Given the description of an element on the screen output the (x, y) to click on. 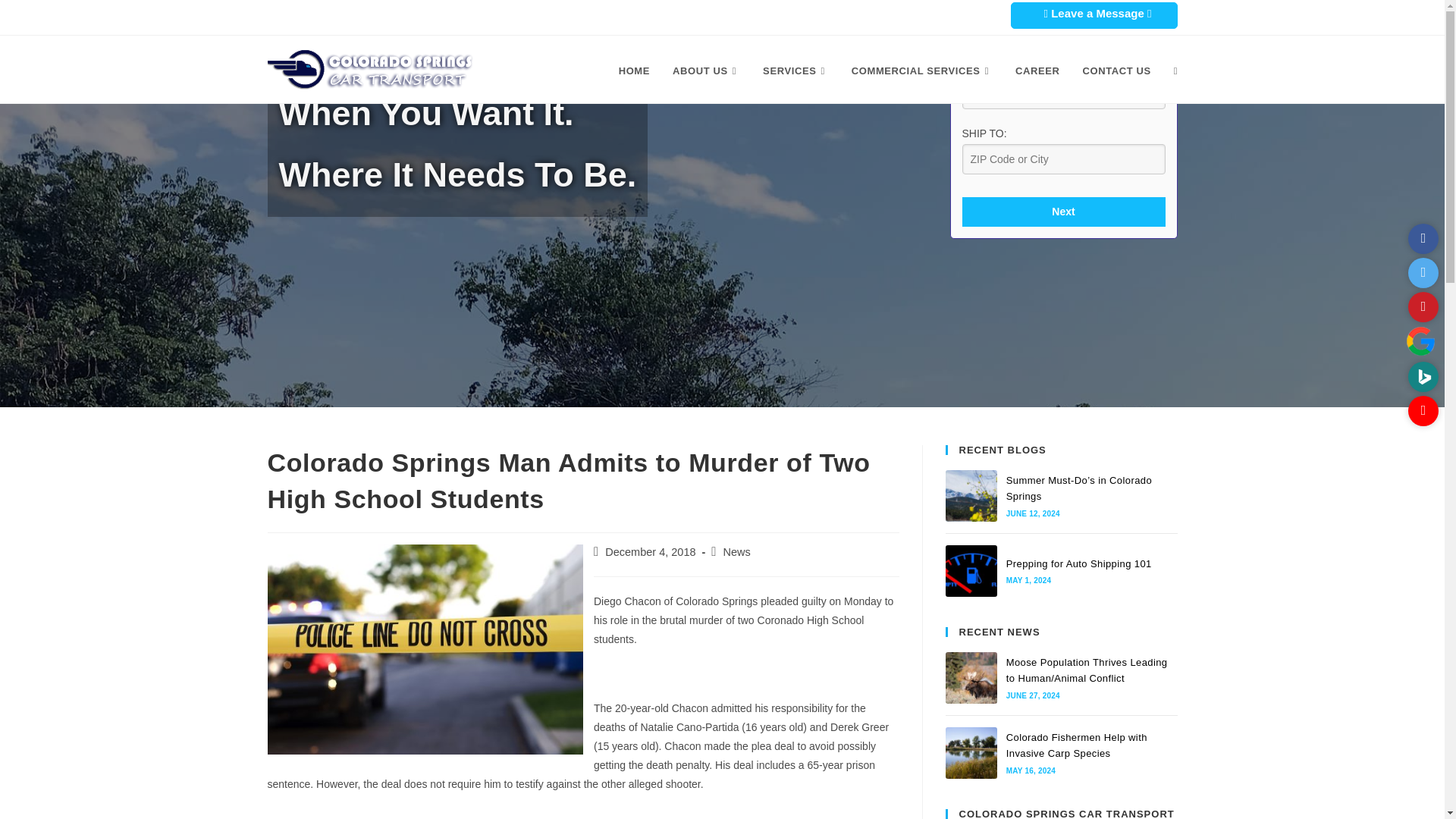
Enter a location (1062, 93)
Enter a location (1062, 159)
CAREER (1037, 71)
Colorado Fishermen Help with Invasive Carp Species (969, 752)
Colorado Springs Car Transport Cities (747, 15)
HOME (634, 71)
SERVICES (795, 71)
Prepping for Auto Shipping 101 (969, 571)
COMMERCIAL SERVICES (922, 71)
ABOUT US (706, 71)
CONTACT US (1115, 71)
